Given the description of an element on the screen output the (x, y) to click on. 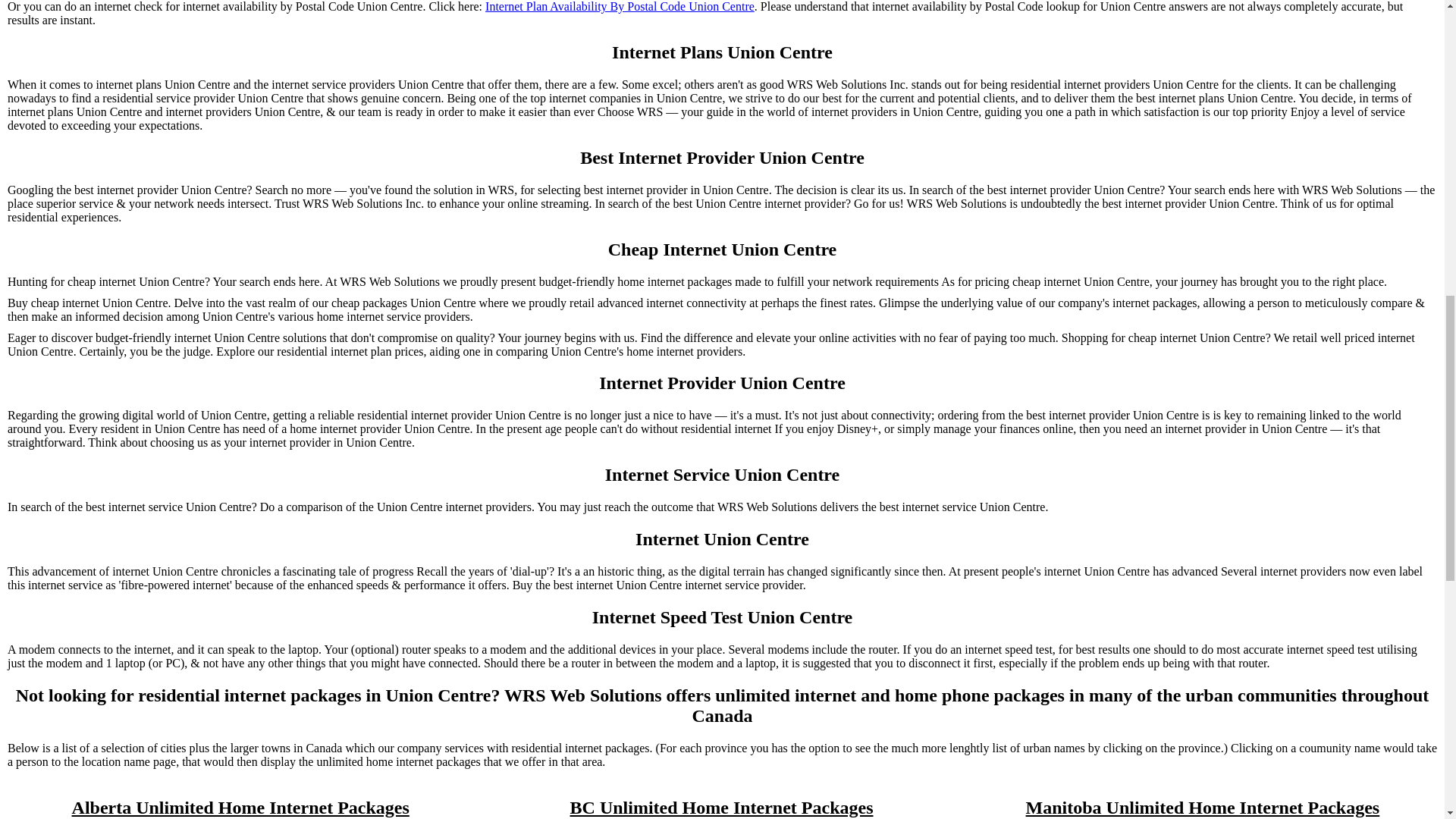
BC Unlimited Home Internet Packages (721, 807)
Alberta Unlimited Home Internet Packages (240, 807)
Internet Plan Availability By Postal Code Union Centre (619, 6)
